Given the description of an element on the screen output the (x, y) to click on. 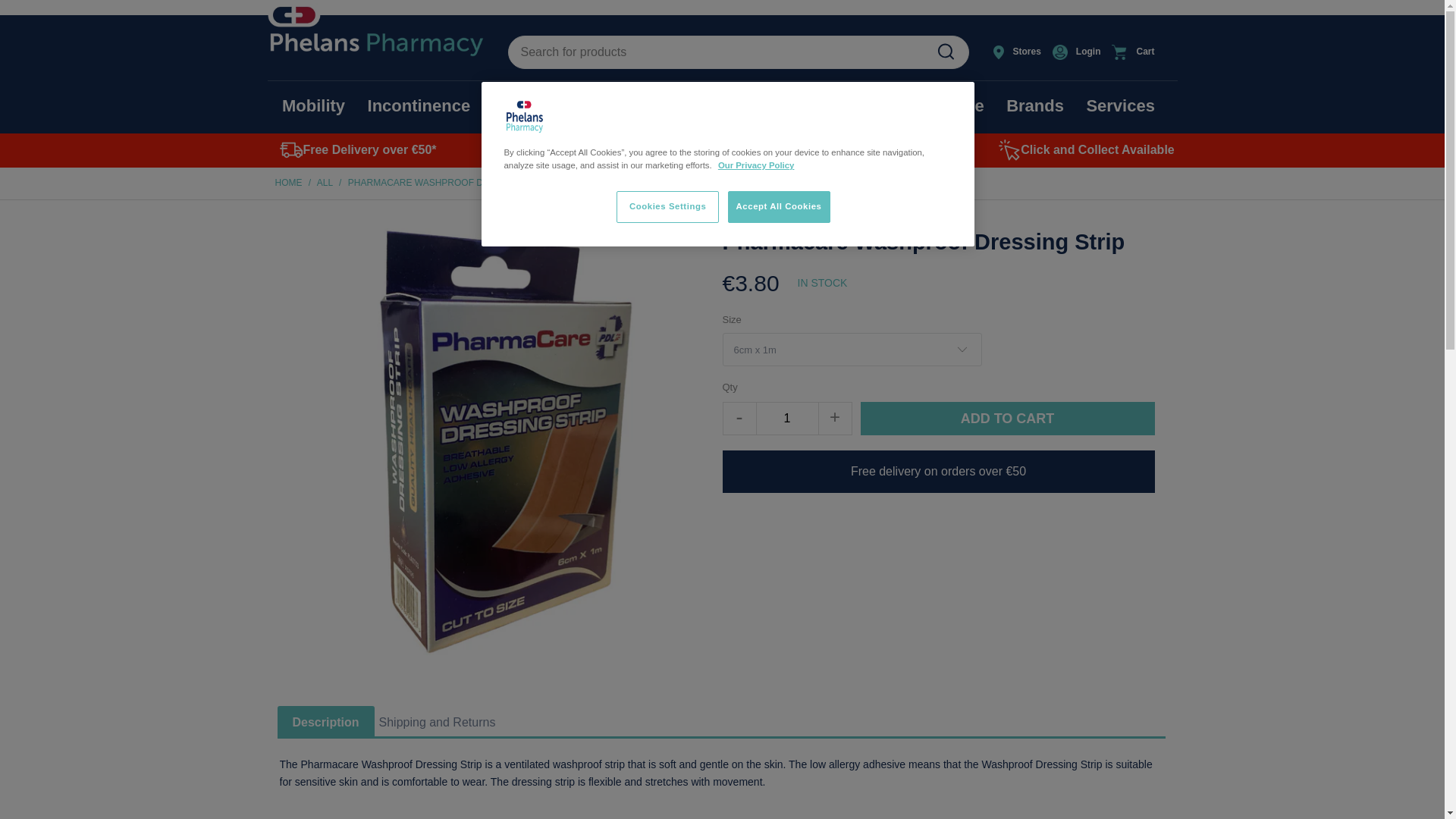
All (325, 182)
76F589C6-0E18-4499-82DD-1BC7DC7F63B1 (945, 51)
1 (786, 418)
Stores (1017, 52)
Phelan's Pharmacy (288, 182)
Incontinence (419, 105)
Medicines (533, 105)
Login (1078, 52)
Mobility (313, 105)
Cart (1140, 52)
